Given the description of an element on the screen output the (x, y) to click on. 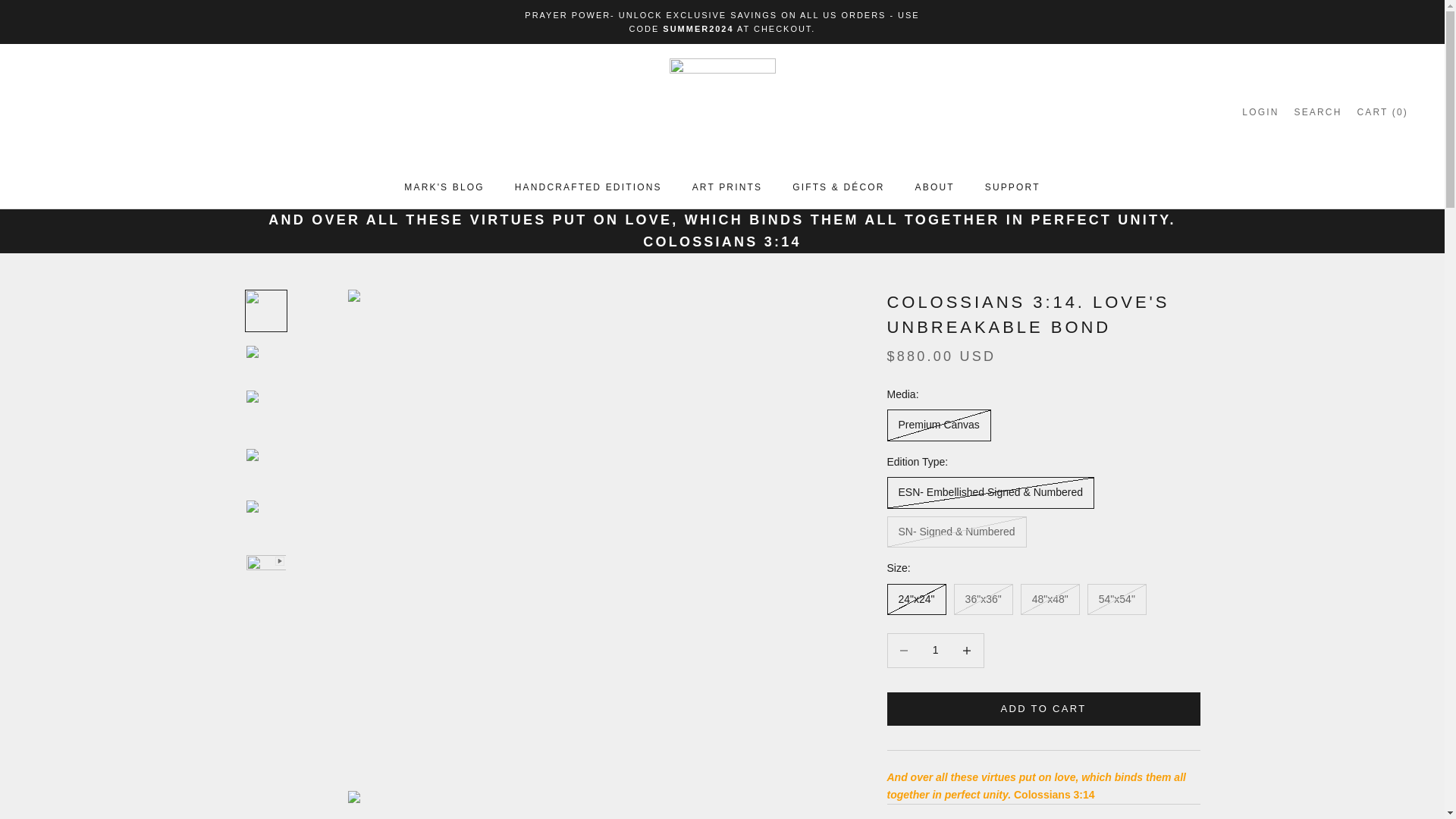
ART PRINTS (727, 186)
54"x54" (1317, 111)
1 (1259, 111)
MARK'S BLOG (935, 649)
HANDCRAFTED EDITIONS (443, 186)
